Given the description of an element on the screen output the (x, y) to click on. 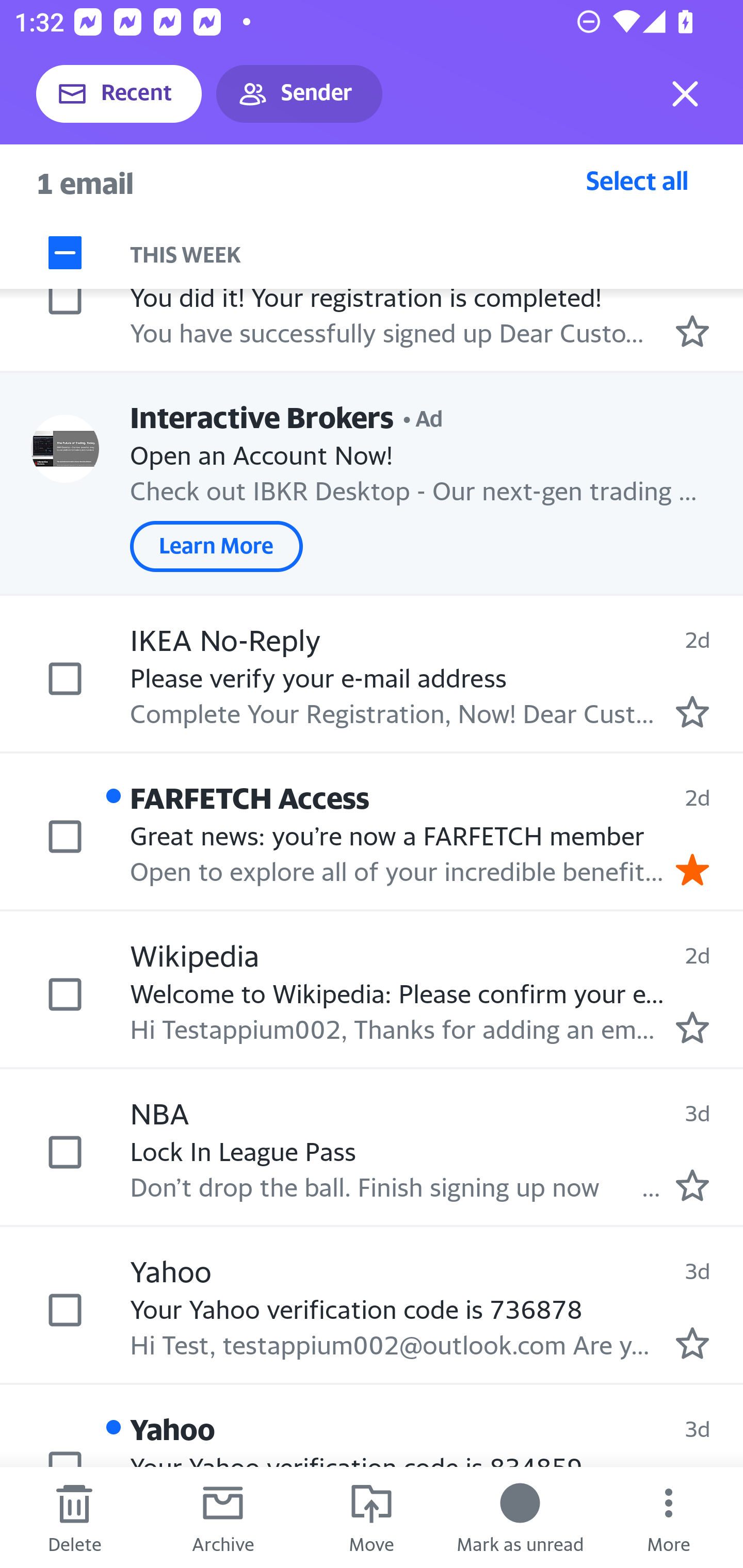
Sender (299, 93)
Exit selection mode (684, 93)
Select all (637, 180)
Mark as starred. (692, 331)
Mark as starred. (692, 711)
Remove star. (692, 869)
Mark as starred. (692, 1027)
Mark as starred. (692, 1184)
Mark as starred. (692, 1342)
Delete (74, 1517)
Archive (222, 1517)
Move (371, 1517)
Mark as unread (519, 1517)
More (668, 1517)
